Given the description of an element on the screen output the (x, y) to click on. 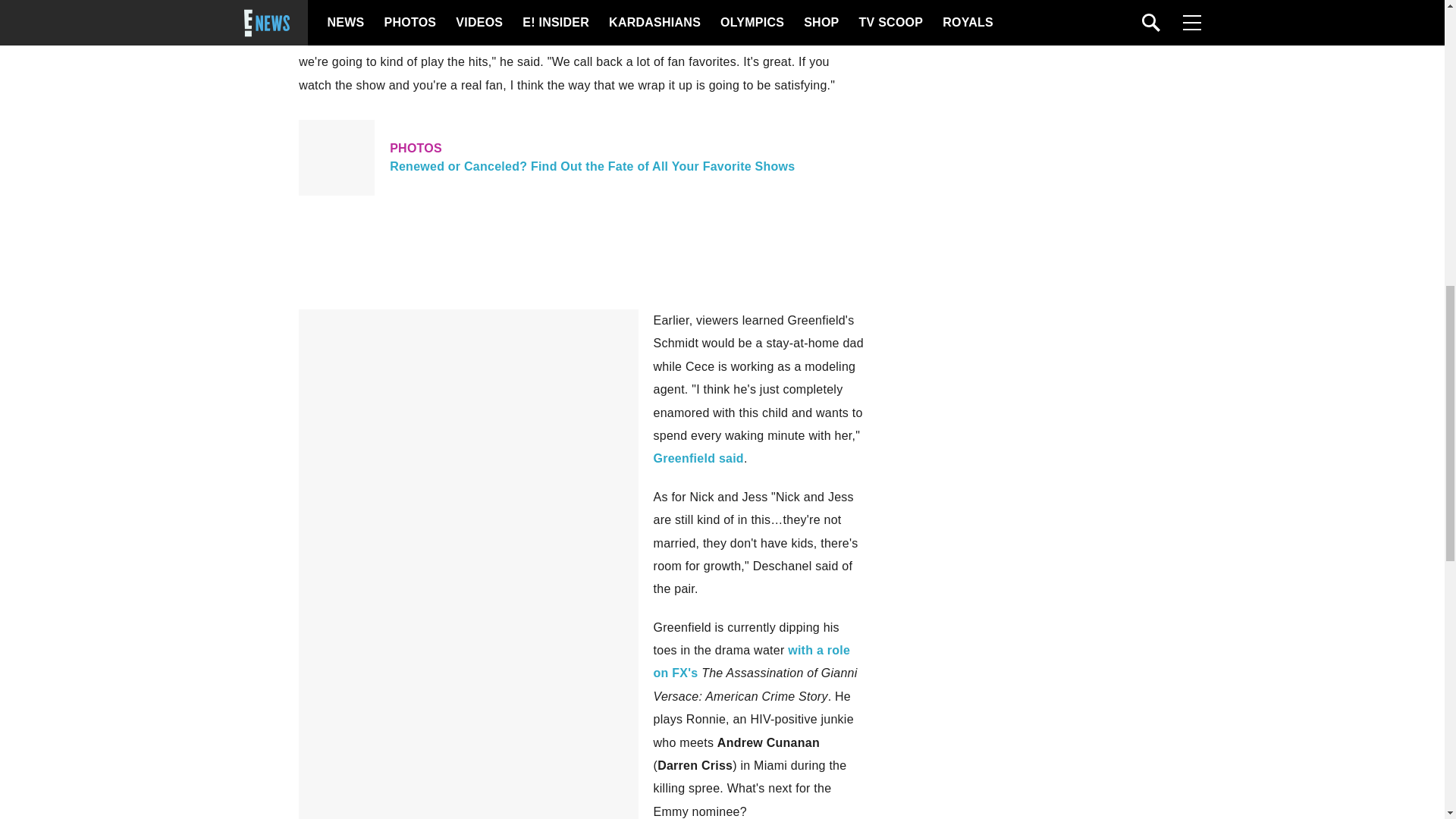
Greenfield said (698, 458)
with a role on FX's (751, 661)
